Given the description of an element on the screen output the (x, y) to click on. 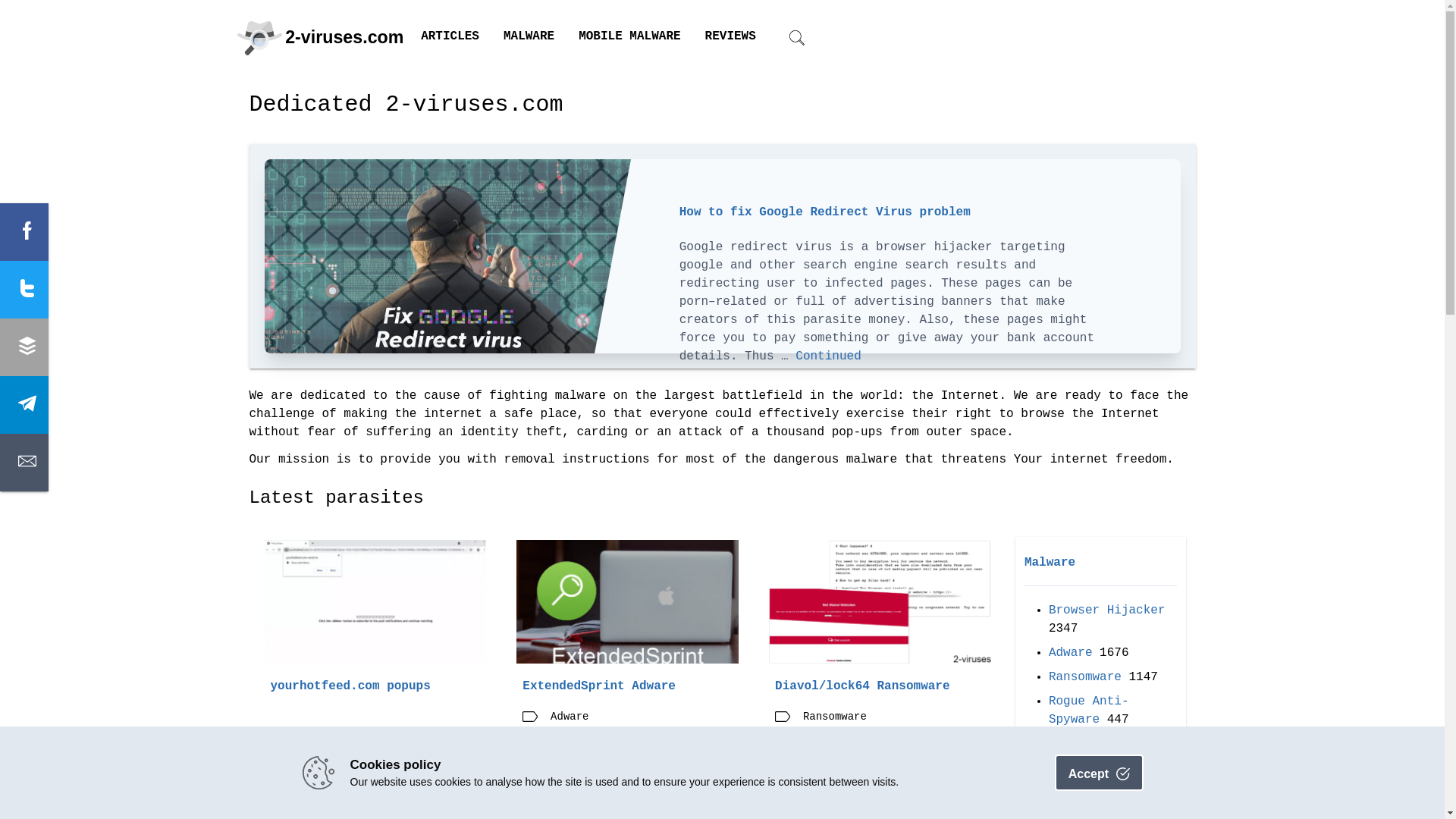
Scam Element type: text (1062, 768)
Search Element type: text (767, 433)
Malware Element type: text (1049, 562)
  Element type: text (24, 462)
  Element type: text (24, 404)
Continued Element type: text (827, 355)
ExtendedSprint Adware Element type: text (598, 686)
MOBILE MALWARE Element type: text (629, 36)
Diavol/lock64 Ransomware Element type: text (862, 686)
  Element type: text (24, 231)
MALWARE Element type: text (528, 36)
yourhotfeed.com popups Element type: text (349, 686)
  Element type: text (24, 347)
Accept Element type: text (1098, 772)
Trojan Element type: text (1070, 792)
Adware Element type: text (1070, 653)
Rogue Anti-Spyware Element type: text (1088, 710)
How to fix Google Redirect Virus problem Element type: text (824, 211)
  Element type: text (24, 289)
Browser Hijacker Element type: text (1106, 610)
ARTICLES Element type: text (449, 36)
Ransomware Element type: text (1084, 677)
REVIEWS Element type: text (730, 36)
PUP Element type: text (1059, 744)
